Given the description of an element on the screen output the (x, y) to click on. 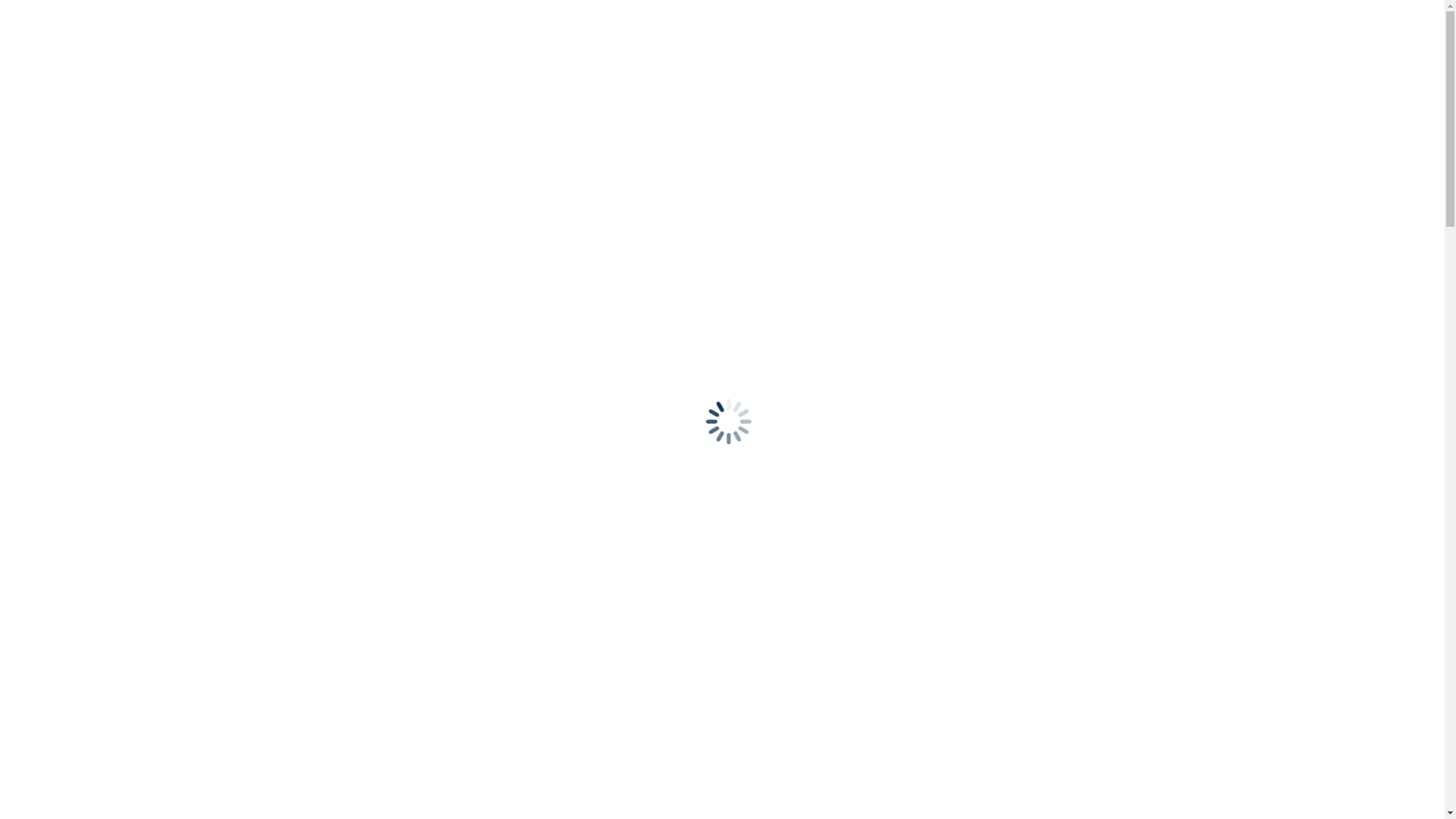
AFSPRAAK VOOR ONDERHOUD Element type: text (96, 18)
BEKIJK HIER ONS AANBOD Element type: text (77, 491)
AANBIEDINGEN TWEEDEHANDS Element type: text (129, 235)
CONTACT Element type: text (64, 195)
HOME Element type: text (54, 221)
HOME Element type: text (54, 168)
Home Element type: text (50, 348)
PROEFRIT BOEKEN Element type: text (60, 43)
Gemeente Element type: text (60, 362)
STOCK & DIRECTIEWAGENS Element type: text (86, 69)
AANBIEDINGEN TWEEDEHANDS Element type: text (129, 181)
Skip to content Element type: text (5, 11)
BEKIJK HIER ONS AANBOD Element type: text (77, 490)
CONTACT Element type: text (64, 248)
